Given the description of an element on the screen output the (x, y) to click on. 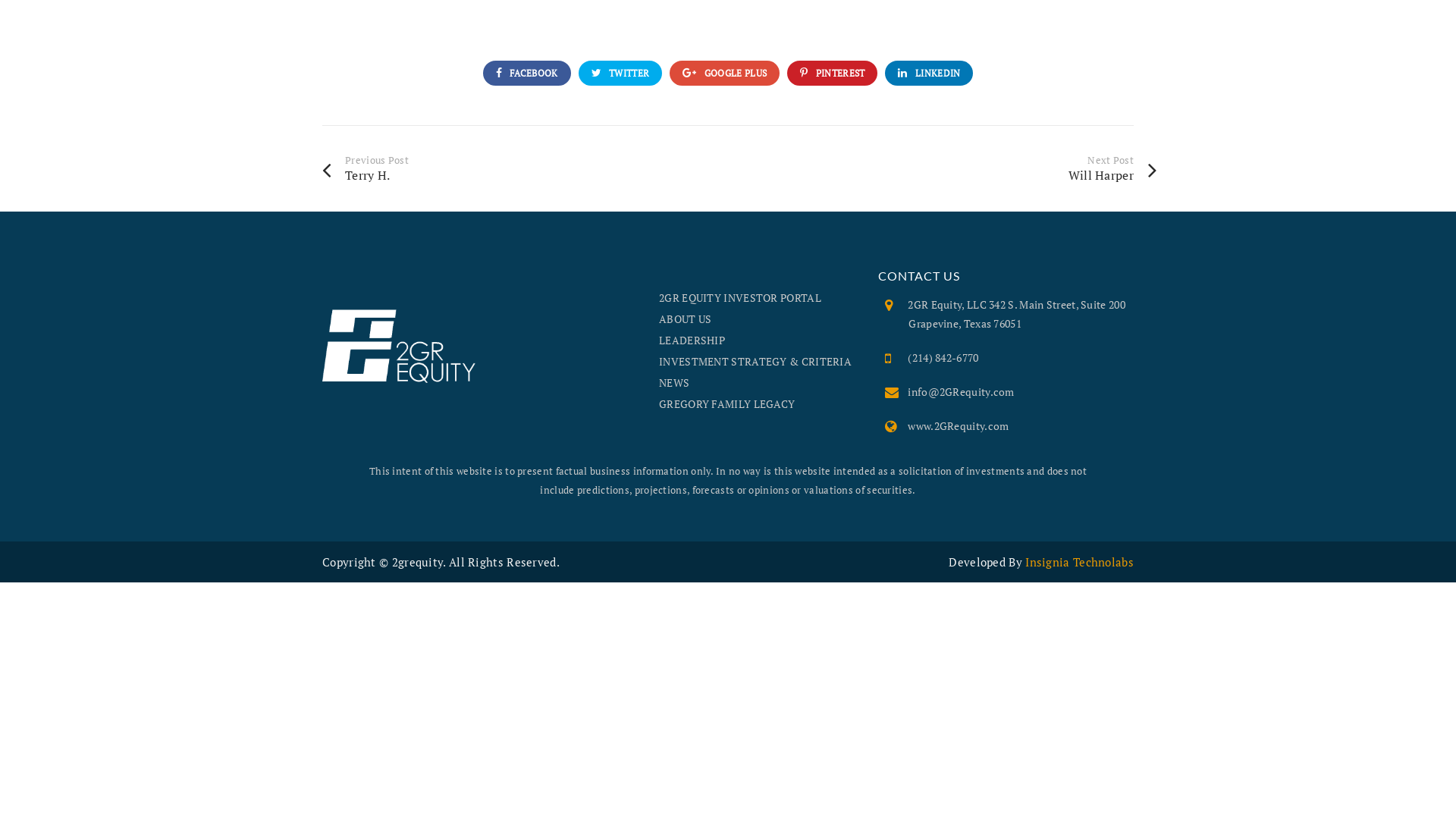
GREGORY FAMILY LEGACY Element type: text (726, 403)
Next Post
Will Harper Element type: text (953, 167)
(214) 842-6770 Element type: text (942, 357)
Previous Post
Terry H. Element type: text (525, 167)
Insignia Technolabs Element type: text (1079, 561)
www.2GRequity.com Element type: text (957, 425)
LINKEDIN Element type: text (928, 72)
info@2GRequity.com Element type: text (960, 391)
FACEBOOK Element type: text (526, 72)
GOOGLE PLUS Element type: text (724, 72)
INVESTMENT STRATEGY & CRITERIA Element type: text (754, 361)
INVESTORS Element type: text (1356, 30)
LEADERSHIP Element type: text (691, 339)
2GR EQUITY INVESTOR PORTAL Element type: text (739, 297)
ABOUT US Element type: text (684, 318)
PINTEREST Element type: text (832, 72)
TWITTER Element type: text (620, 72)
NEWS Element type: text (673, 382)
